Given the description of an element on the screen output the (x, y) to click on. 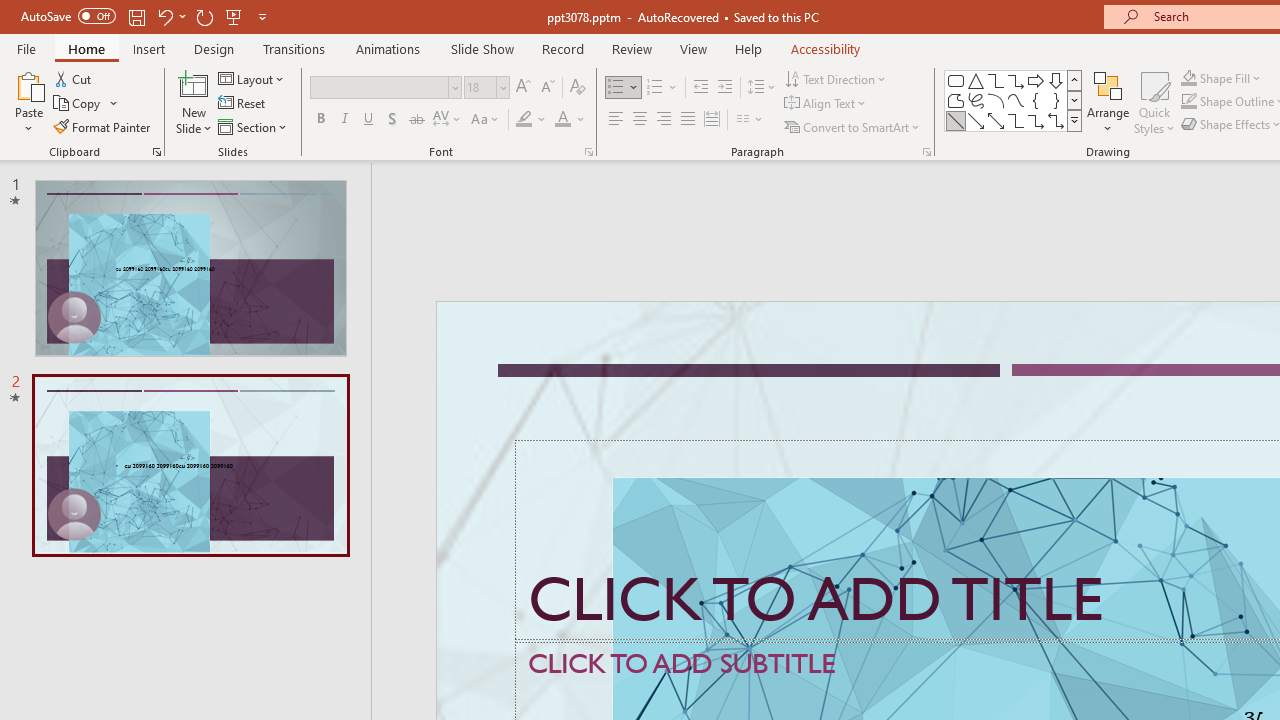
Line Arrow: Double (995, 120)
